Given the description of an element on the screen output the (x, y) to click on. 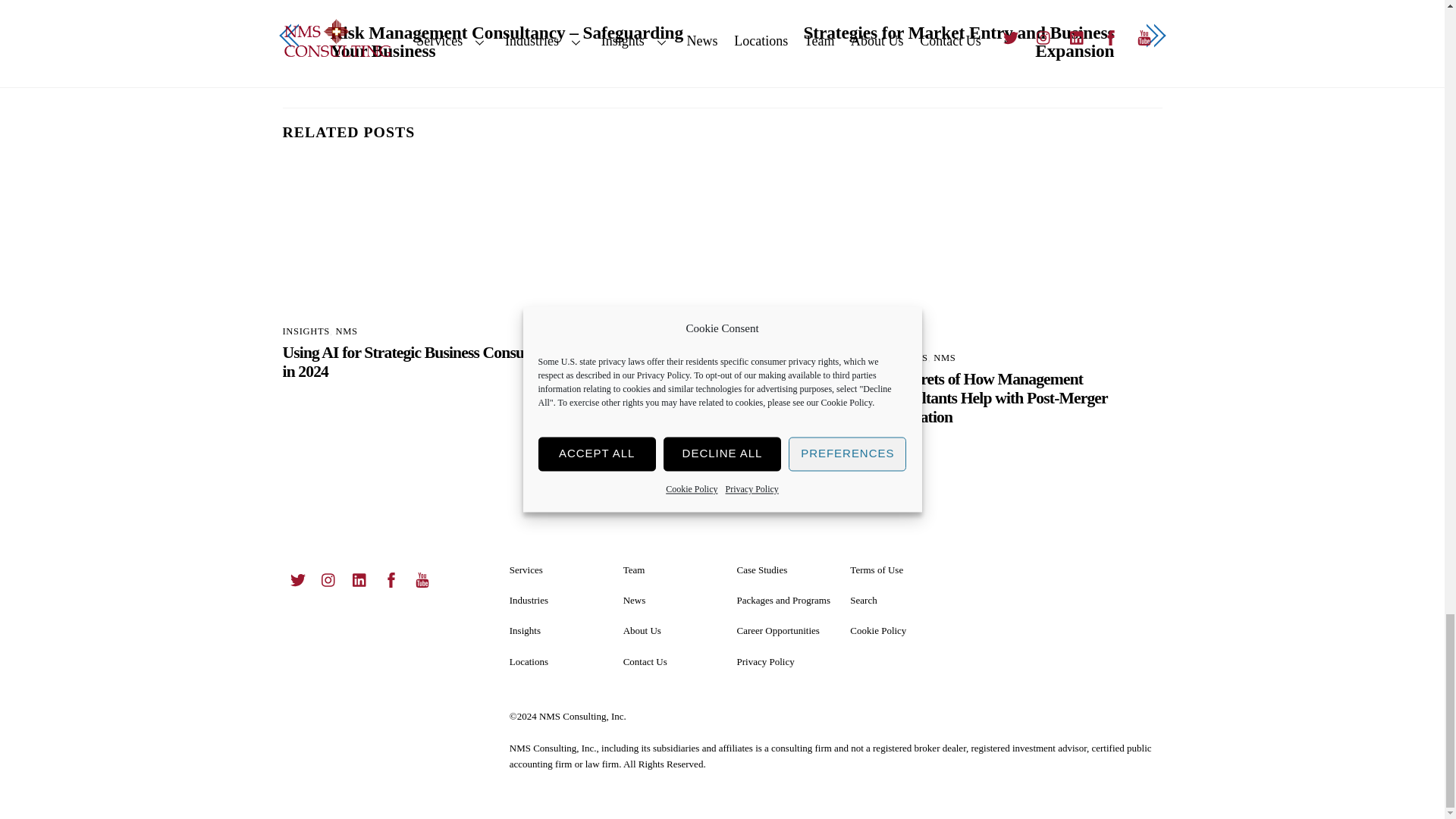
The Biggest Management Consulting Trends in 2024 (721, 251)
PMI image (1021, 251)
artificial intelligence (422, 237)
